Given the description of an element on the screen output the (x, y) to click on. 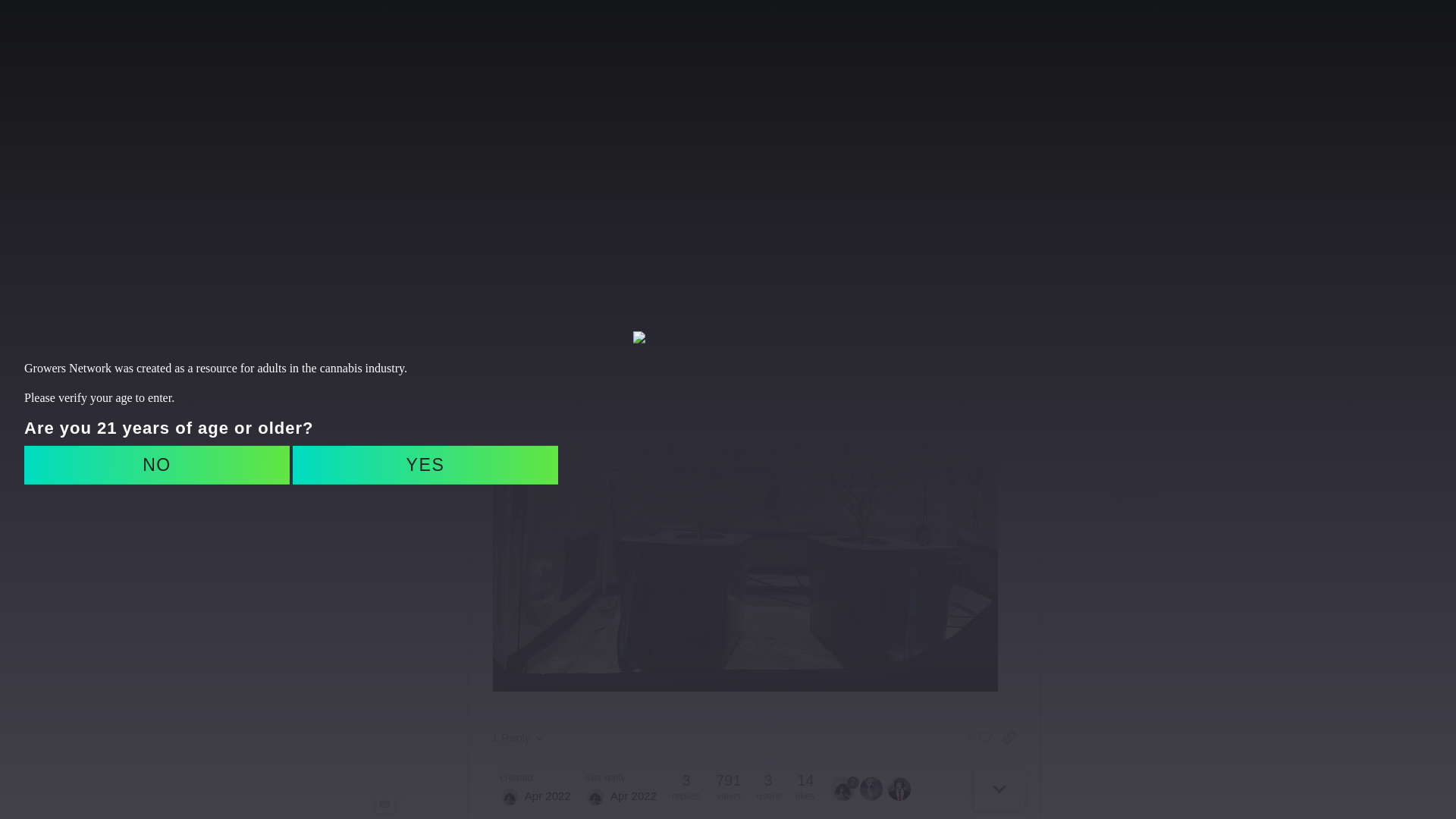
Login (577, 115)
EQUIPMENT (711, 36)
Search (1222, 35)
Grow from Home (469, 171)
Hobbyist (306, 425)
UNIVERSITY (814, 36)
Defoliation question (521, 151)
Newbie (306, 449)
Educational (306, 377)
Sidebar (232, 35)
Topics (306, 94)
University (306, 224)
Toggle section (306, 329)
